Given the description of an element on the screen output the (x, y) to click on. 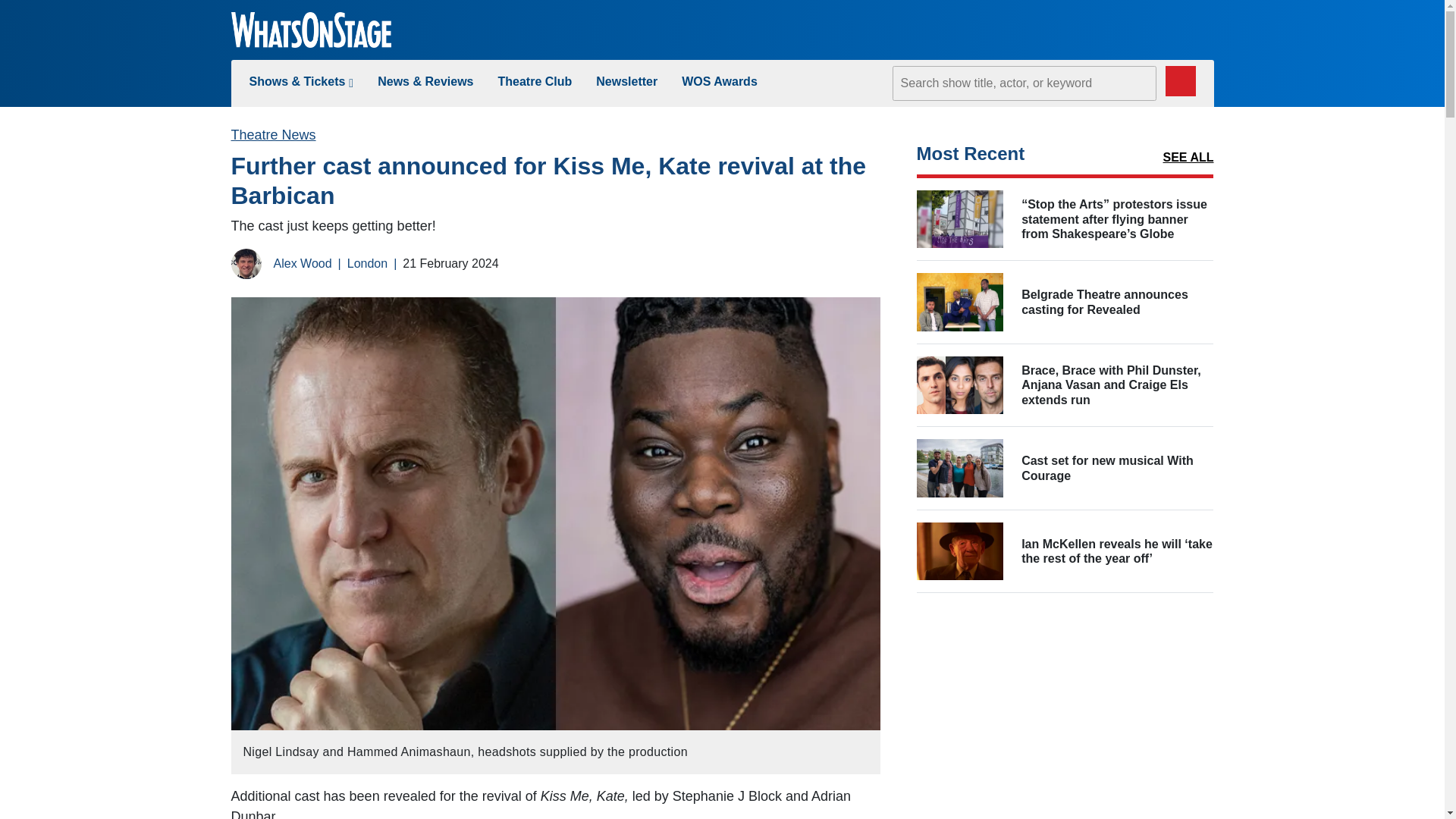
WOS Awards (719, 81)
new-and-reviews-link (425, 81)
Theatre Club (534, 81)
Newsletter (626, 81)
